Given the description of an element on the screen output the (x, y) to click on. 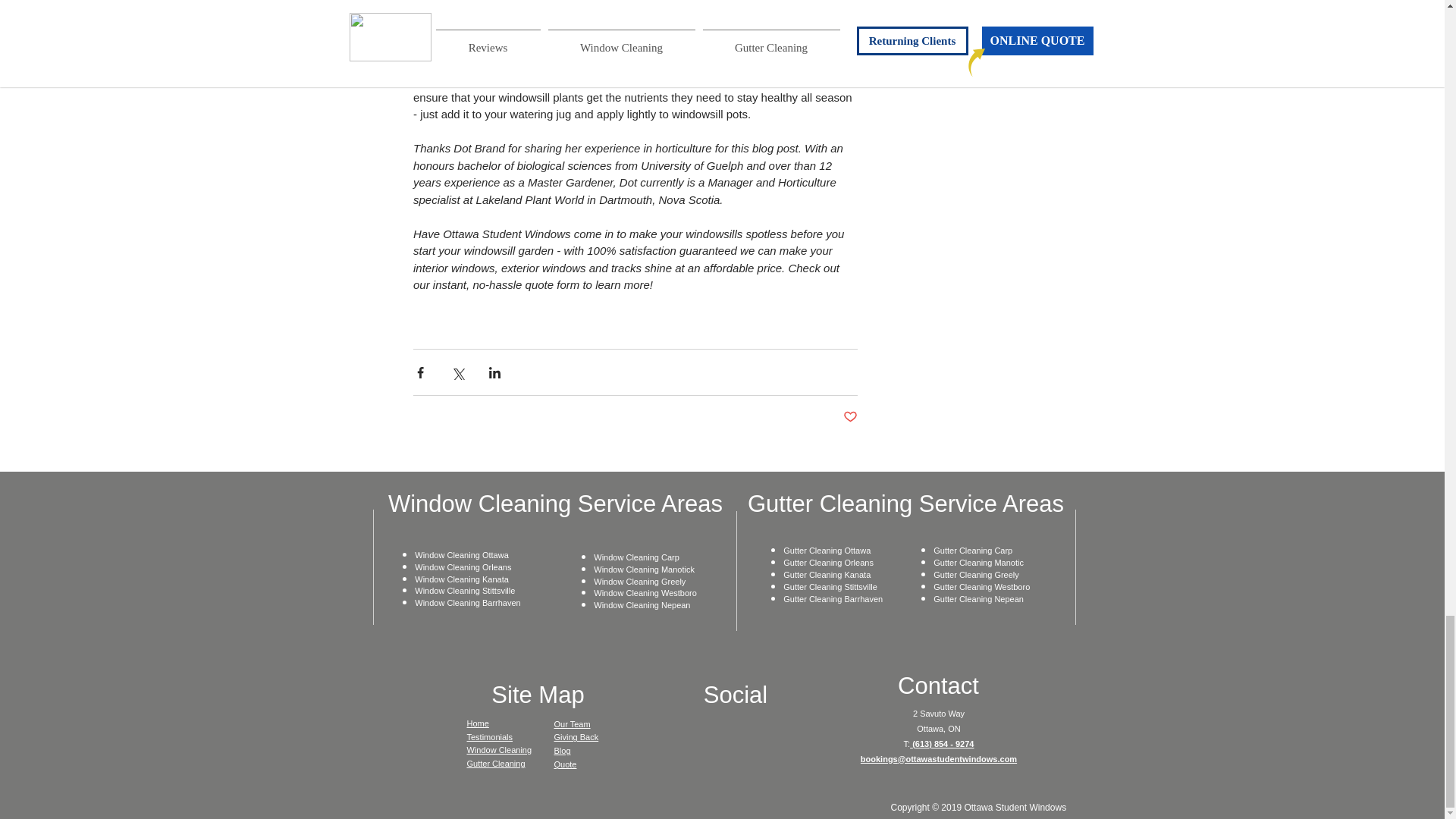
Window Cleaning (499, 749)
Testimonials (490, 737)
Home (478, 723)
bookings (879, 758)
Post not marked as liked (850, 417)
